Given the description of an element on the screen output the (x, y) to click on. 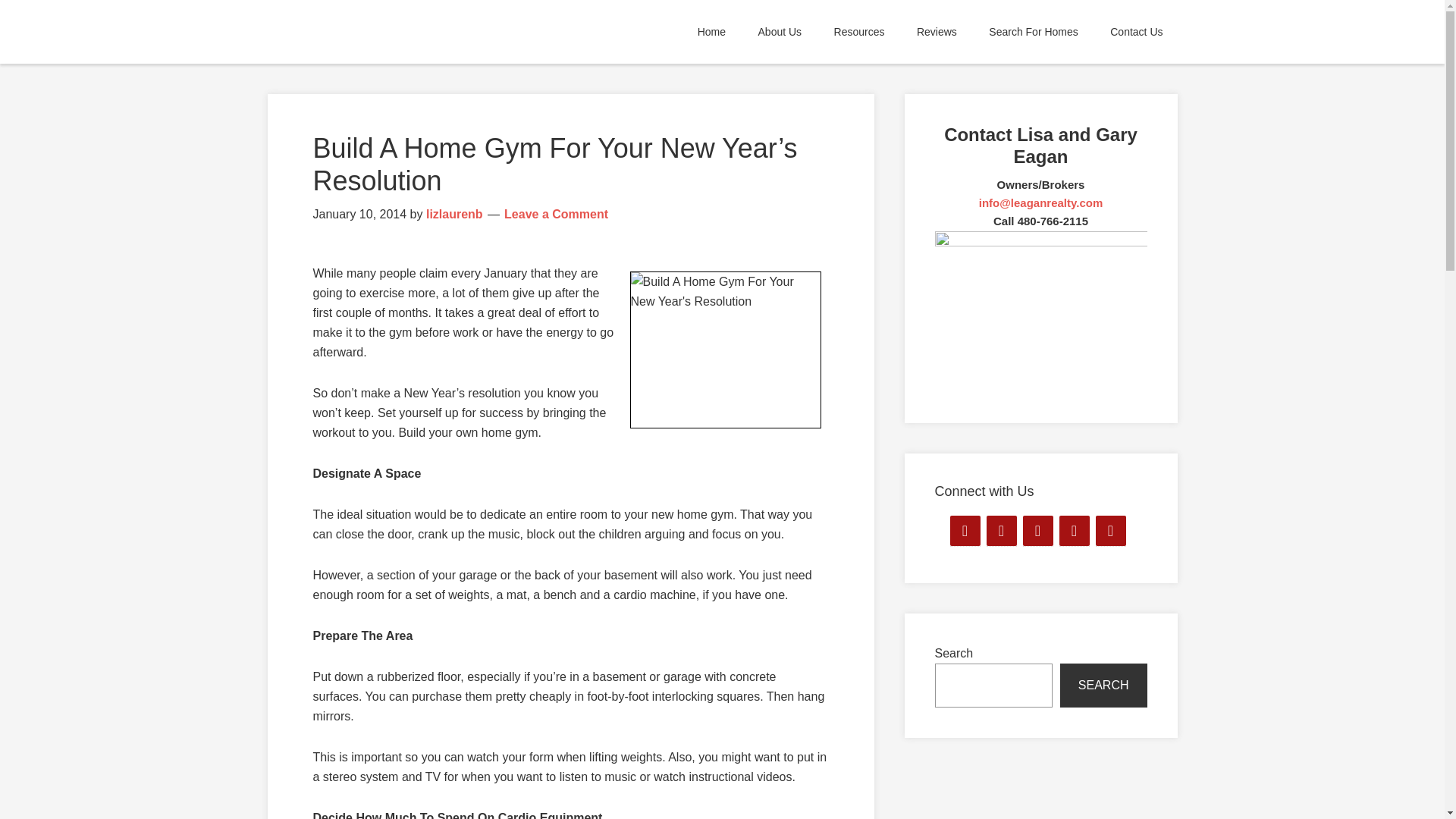
Leave a Comment (555, 214)
Home (710, 31)
Facebook (964, 530)
Contact Us (1136, 31)
About Us (780, 31)
Twitter (1037, 530)
LinkedIn (1000, 530)
Resources (859, 31)
Reviews (936, 31)
YouTube (1073, 530)
lizlaurenb (454, 214)
SEARCH (1103, 685)
Search For Homes (1033, 31)
Leagan Realty (403, 31)
Build A Home Gym For Your New Year's Resolution (724, 349)
